Given the description of an element on the screen output the (x, y) to click on. 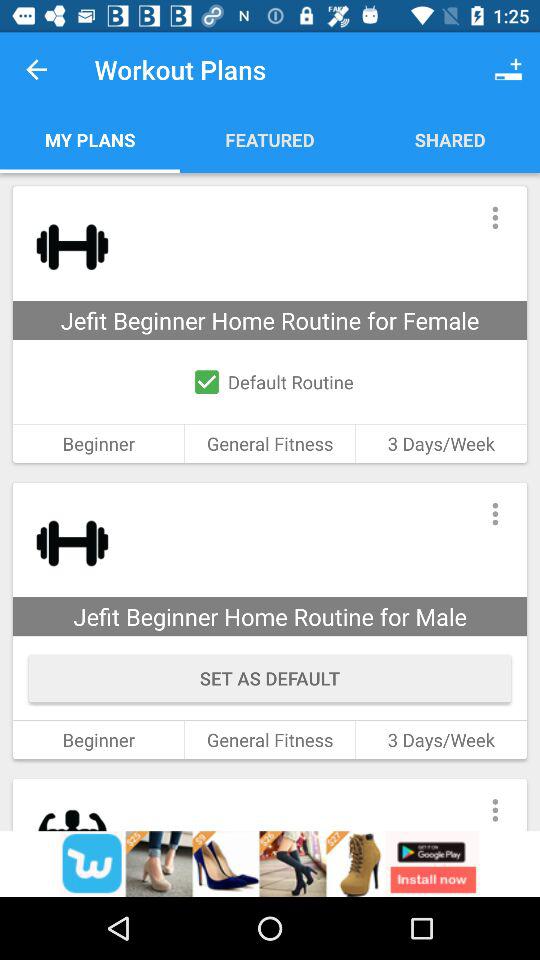
manu button (494, 513)
